Given the description of an element on the screen output the (x, y) to click on. 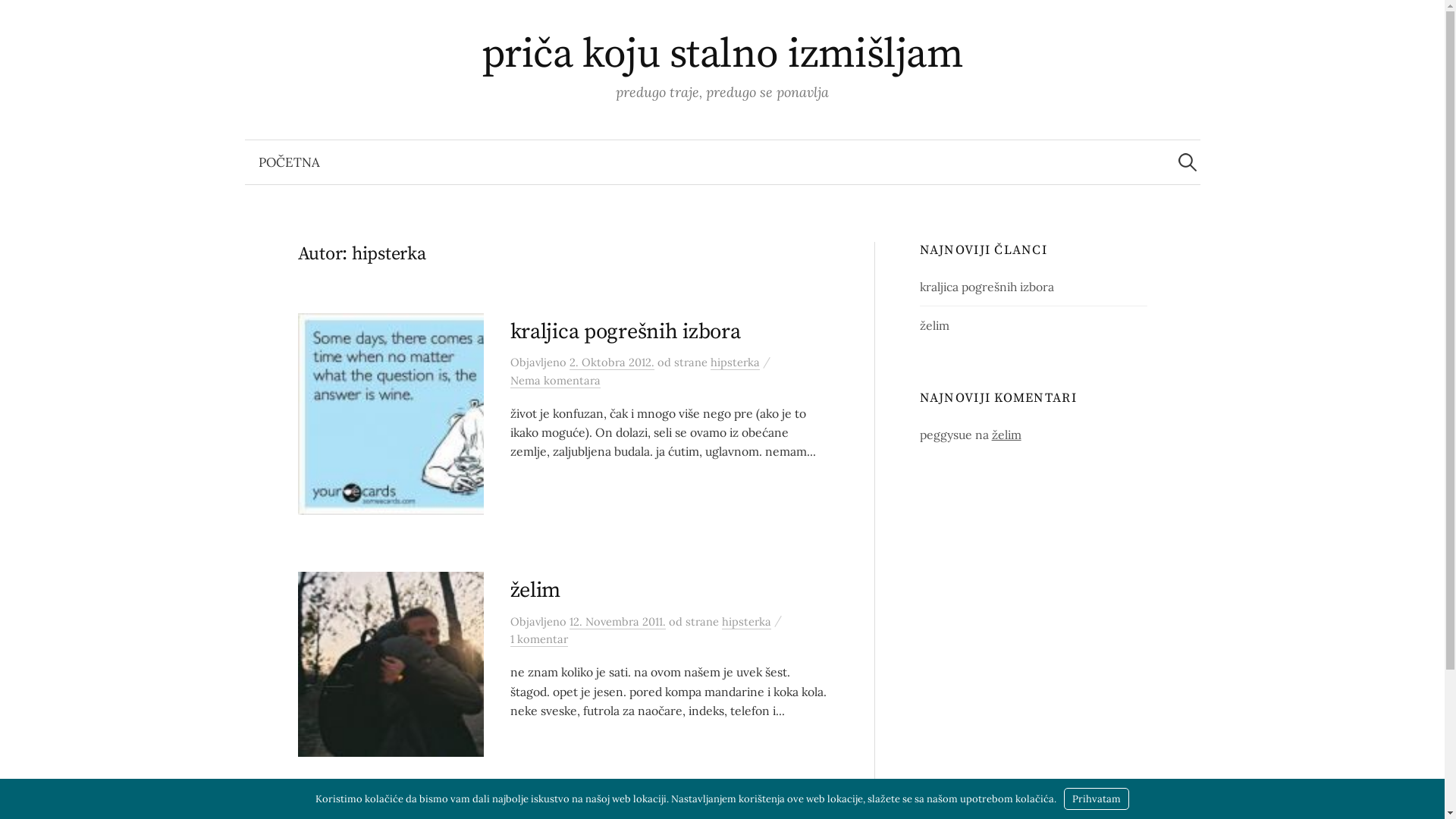
2. Oktobra 2012. Element type: text (610, 362)
Prihvatam Element type: text (1096, 798)
12. Novembra 2011. Element type: text (616, 621)
hipsterka Element type: text (734, 362)
Pretraga Element type: text (18, 18)
hipsterka Element type: text (746, 621)
